Given the description of an element on the screen output the (x, y) to click on. 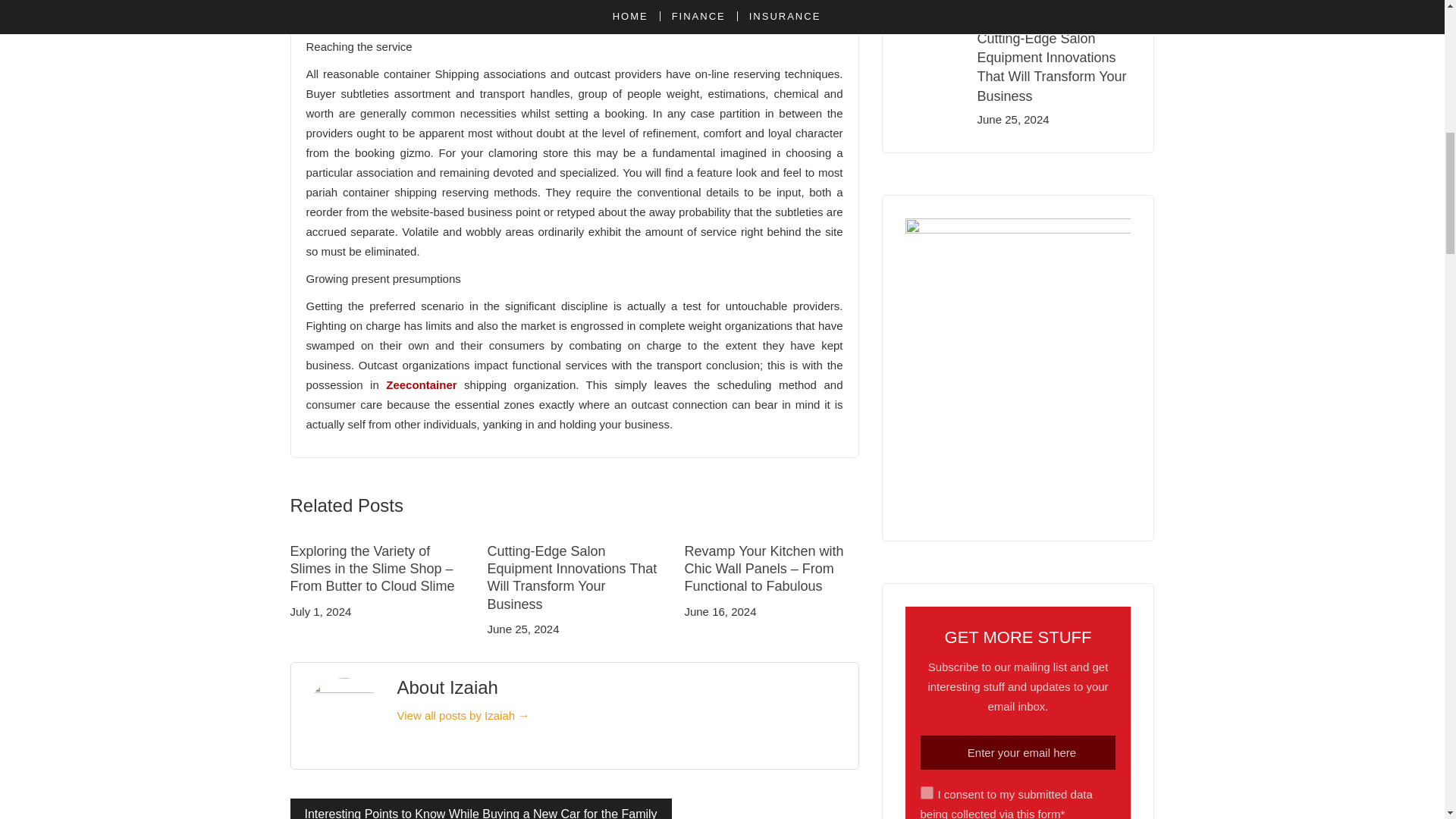
Zeecontainer (421, 384)
on (926, 792)
Enter your email here (1018, 752)
